Given the description of an element on the screen output the (x, y) to click on. 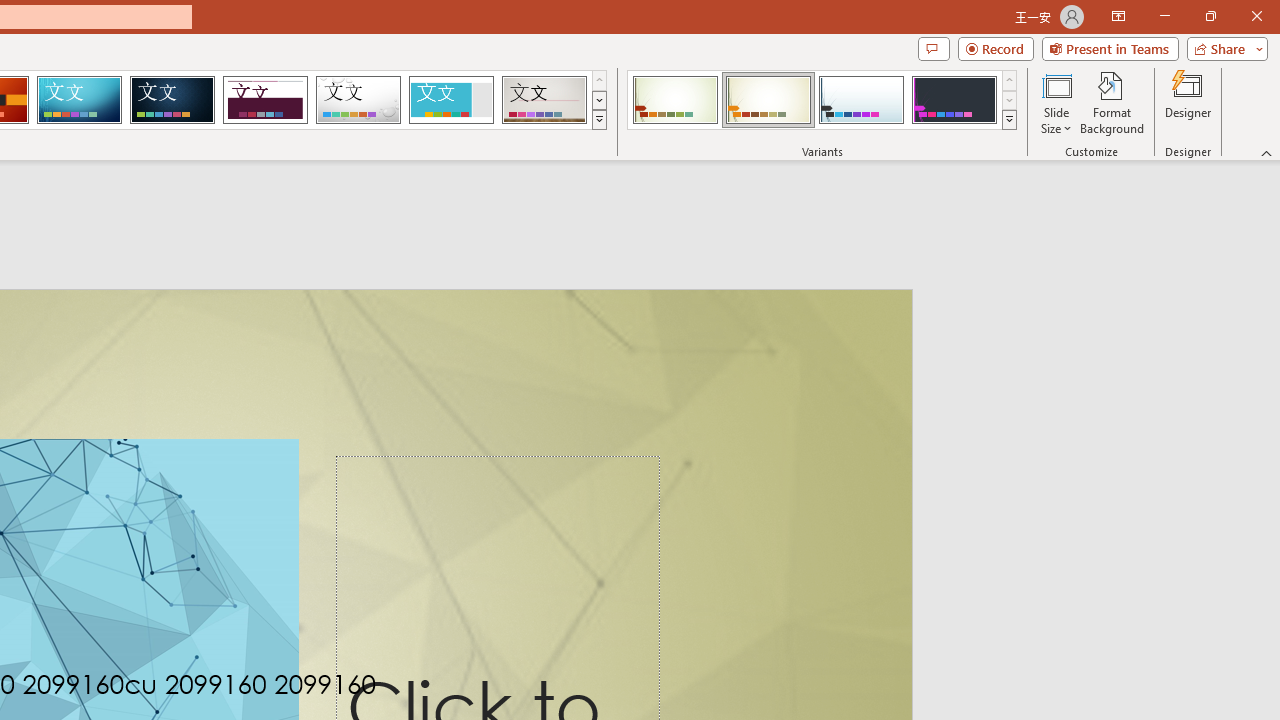
Circuit Loading Preview... (79, 100)
Themes (598, 120)
Wisp Variant 1 (674, 100)
Slide Size (1056, 102)
Wisp Variant 3 (861, 100)
Dividend Loading Preview... (265, 100)
Gallery Loading Preview... (544, 100)
